Given the description of an element on the screen output the (x, y) to click on. 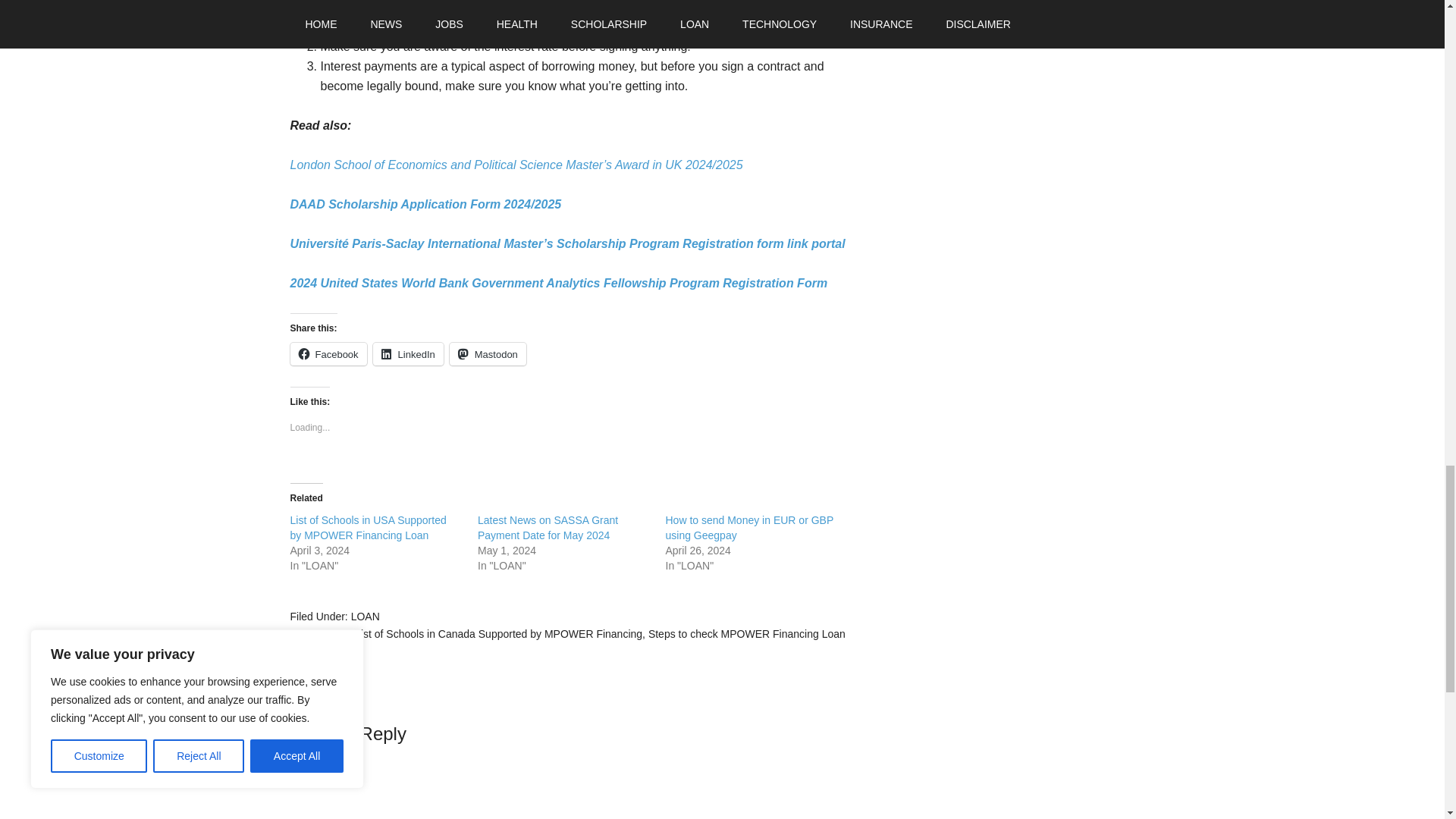
Click to share on LinkedIn (408, 354)
Click to share on Mastodon (487, 354)
Click to share on Facebook (327, 354)
How to send Money in EUR or GBP using Geegpay (749, 527)
Latest News on SASSA Grant Payment Date for May 2024 (547, 527)
List of Schools in USA Supported by MPOWER Financing Loan (367, 527)
